Given the description of an element on the screen output the (x, y) to click on. 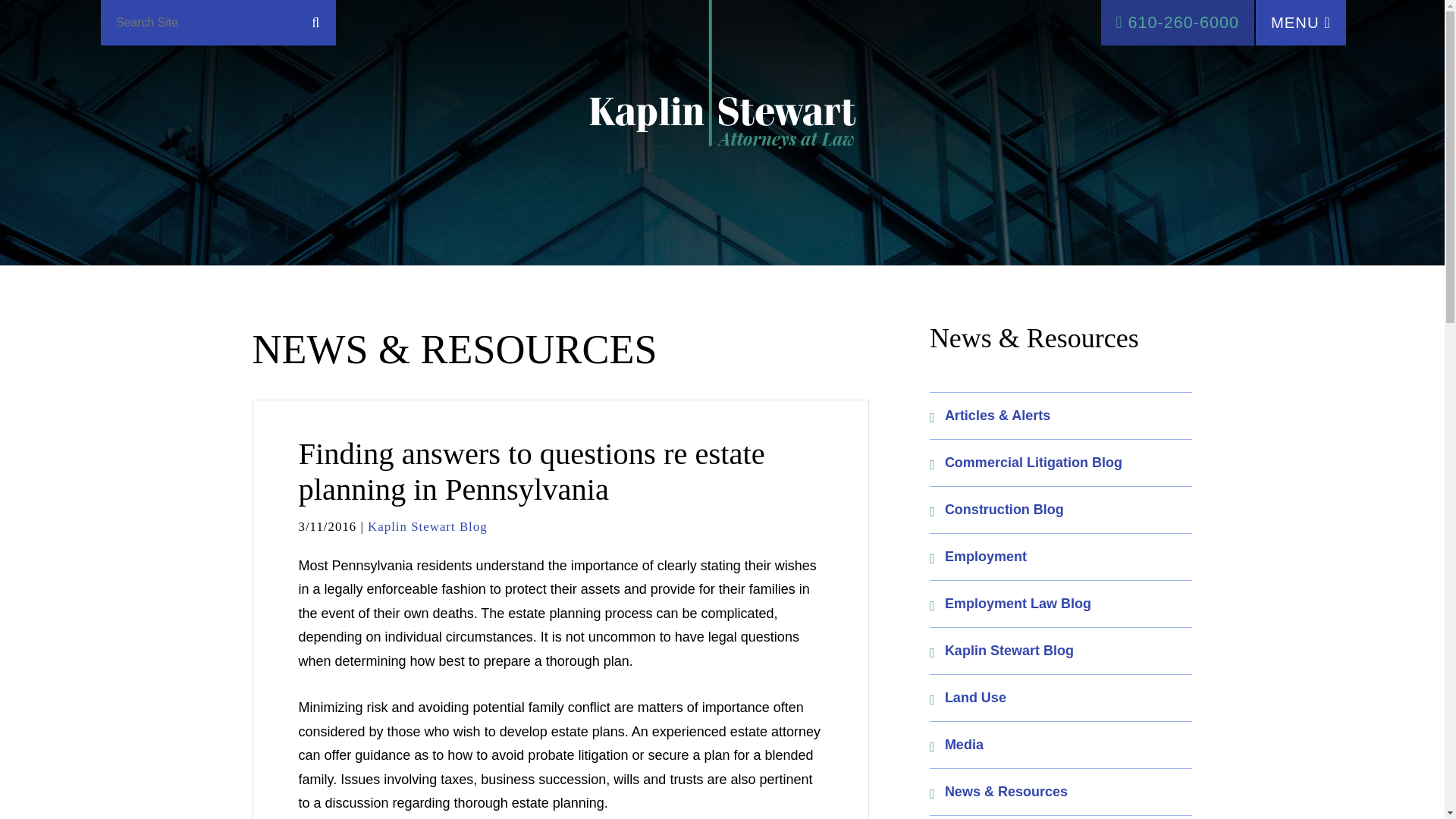
610-260-6000 (1176, 22)
Land Use (1061, 697)
Kaplin Stewart Blog (427, 526)
Media (1061, 745)
MENU (1300, 22)
Employment (1061, 556)
Commercial Litigation Blog (1061, 462)
Kaplin Stewart Blog (1061, 651)
Employment Law Blog (1061, 604)
Construction Blog (1061, 509)
